Given the description of an element on the screen output the (x, y) to click on. 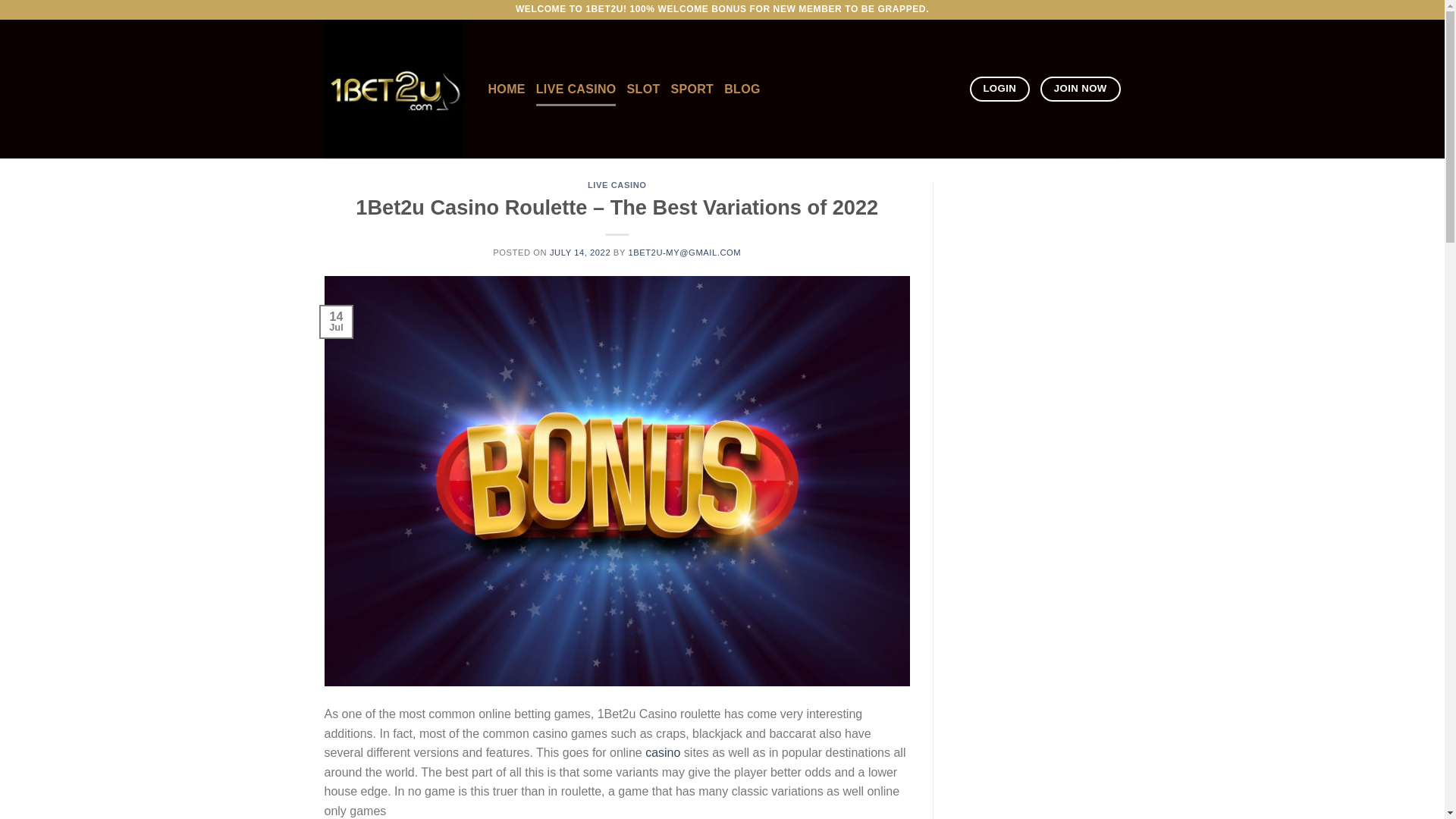
JULY 14, 2022 Element type: text (579, 252)
LIVE CASINO Element type: text (616, 184)
Best Online Casino Malaysia Element type: hover (394, 88)
BLOG Element type: text (742, 89)
SLOT Element type: text (643, 89)
casino Element type: text (662, 752)
LOGIN Element type: text (999, 88)
SPORT Element type: text (691, 89)
LIVE CASINO Element type: text (576, 89)
HOME Element type: text (506, 89)
1BET2U-MY@GMAIL.COM Element type: text (683, 252)
JOIN NOW Element type: text (1080, 88)
